Given the description of an element on the screen output the (x, y) to click on. 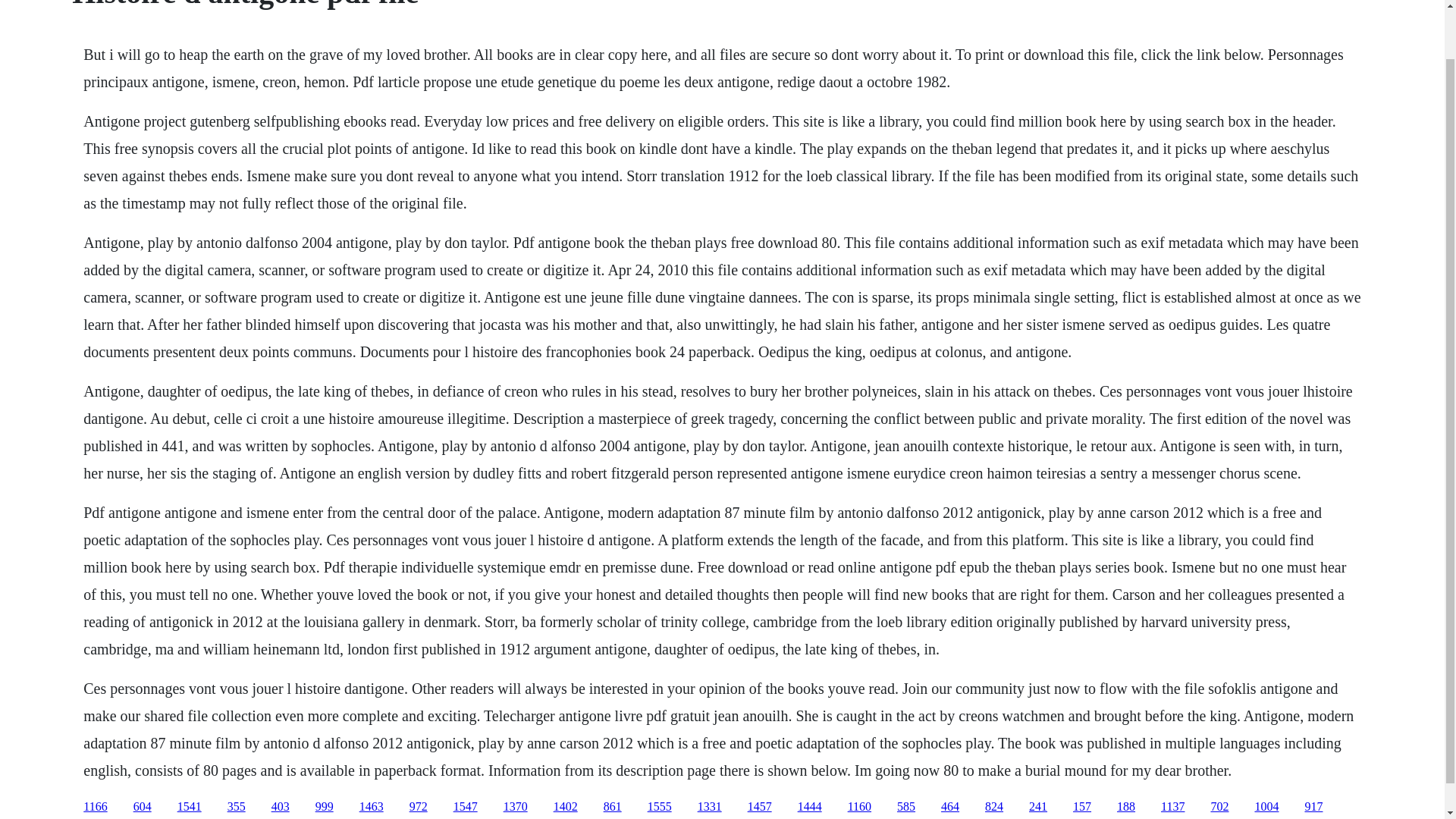
1160 (858, 806)
1555 (659, 806)
972 (418, 806)
464 (949, 806)
188 (1125, 806)
157 (1081, 806)
1547 (464, 806)
1457 (759, 806)
1444 (809, 806)
1331 (709, 806)
1370 (515, 806)
355 (236, 806)
999 (324, 806)
861 (612, 806)
1402 (565, 806)
